Given the description of an element on the screen output the (x, y) to click on. 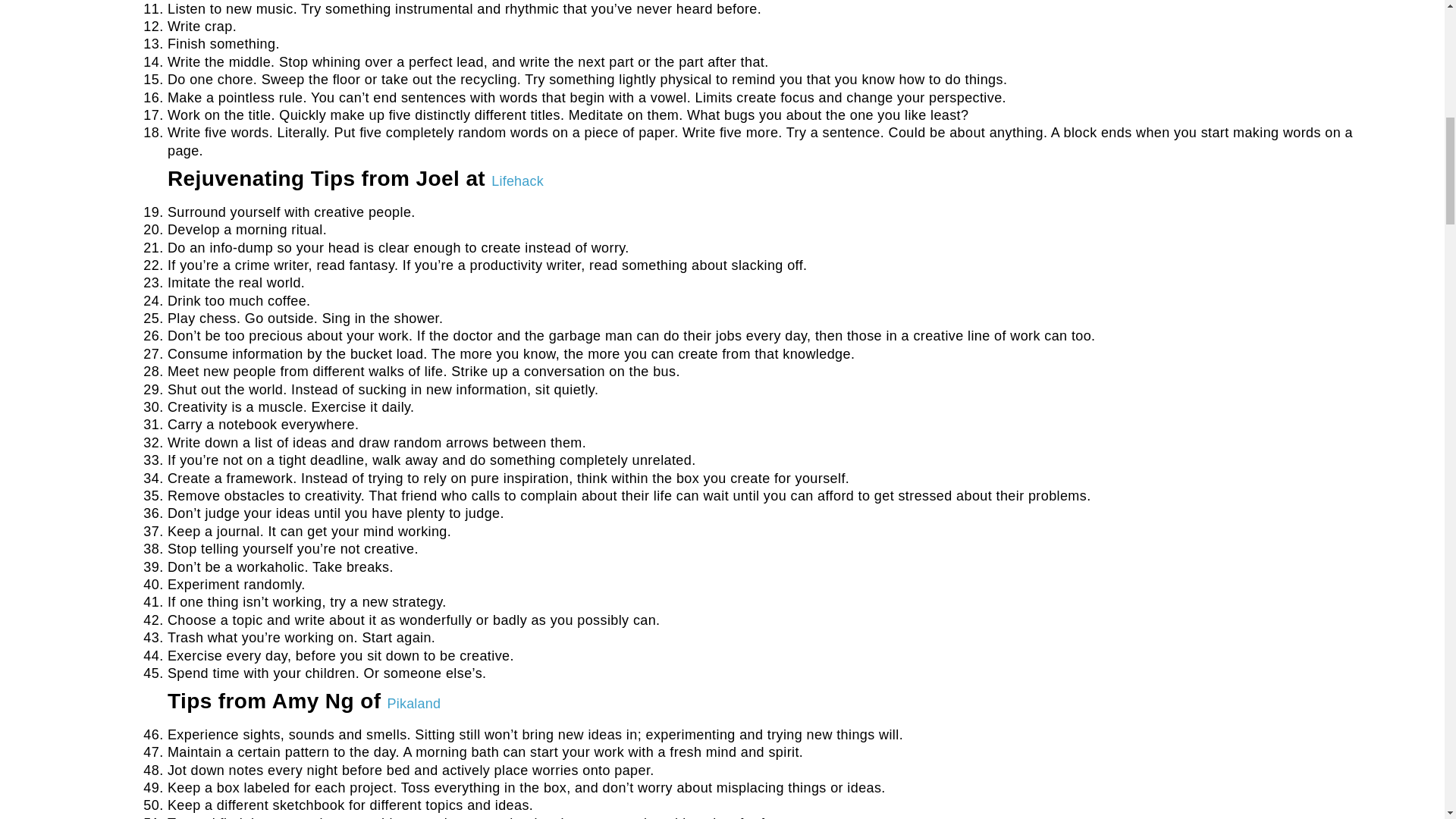
Lifehack (517, 181)
